Given the description of an element on the screen output the (x, y) to click on. 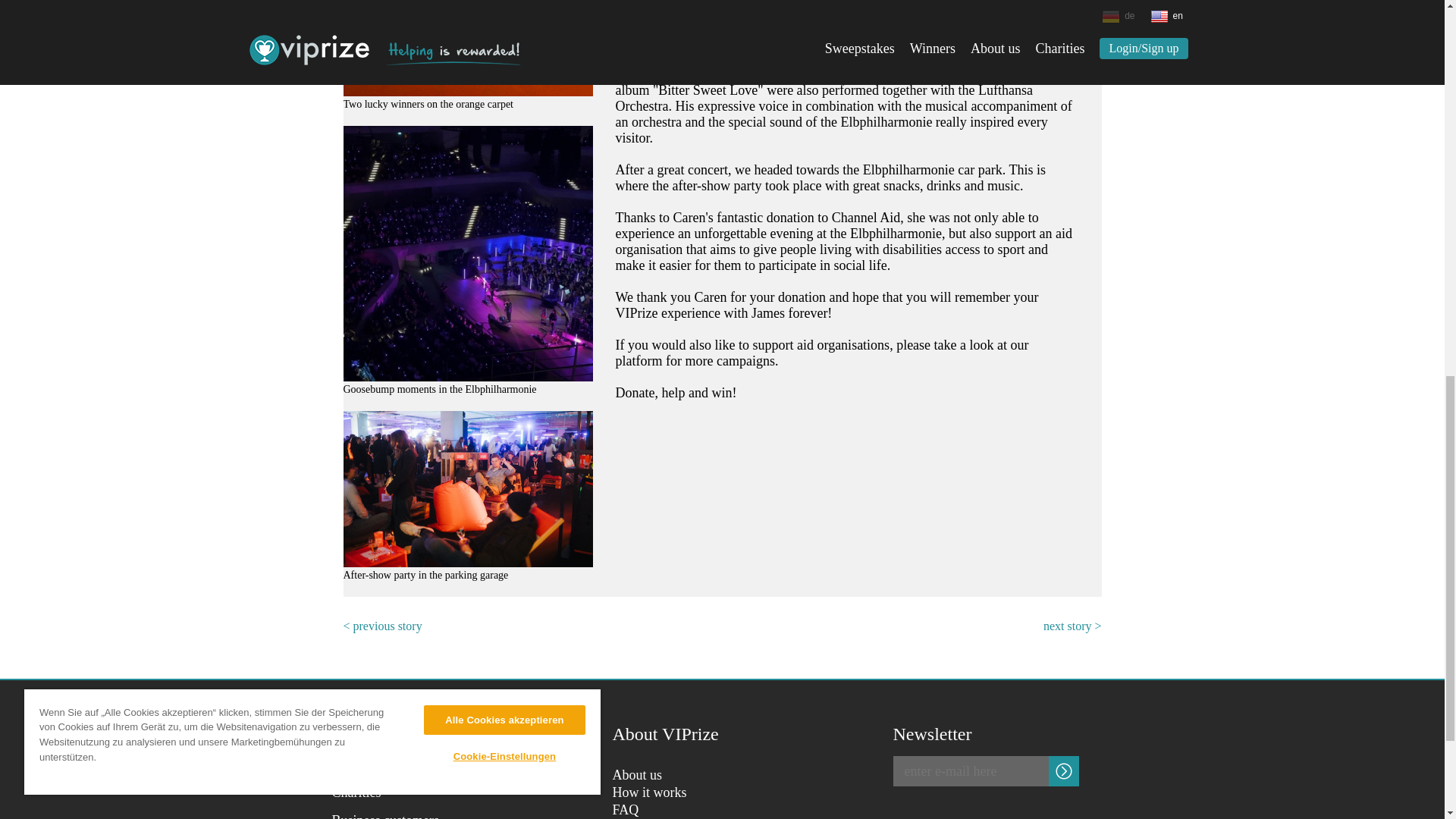
Business customers (385, 816)
FAQ (625, 809)
Sweepstakes (366, 774)
How it works (649, 792)
About us (637, 774)
Charities (356, 792)
